Given the description of an element on the screen output the (x, y) to click on. 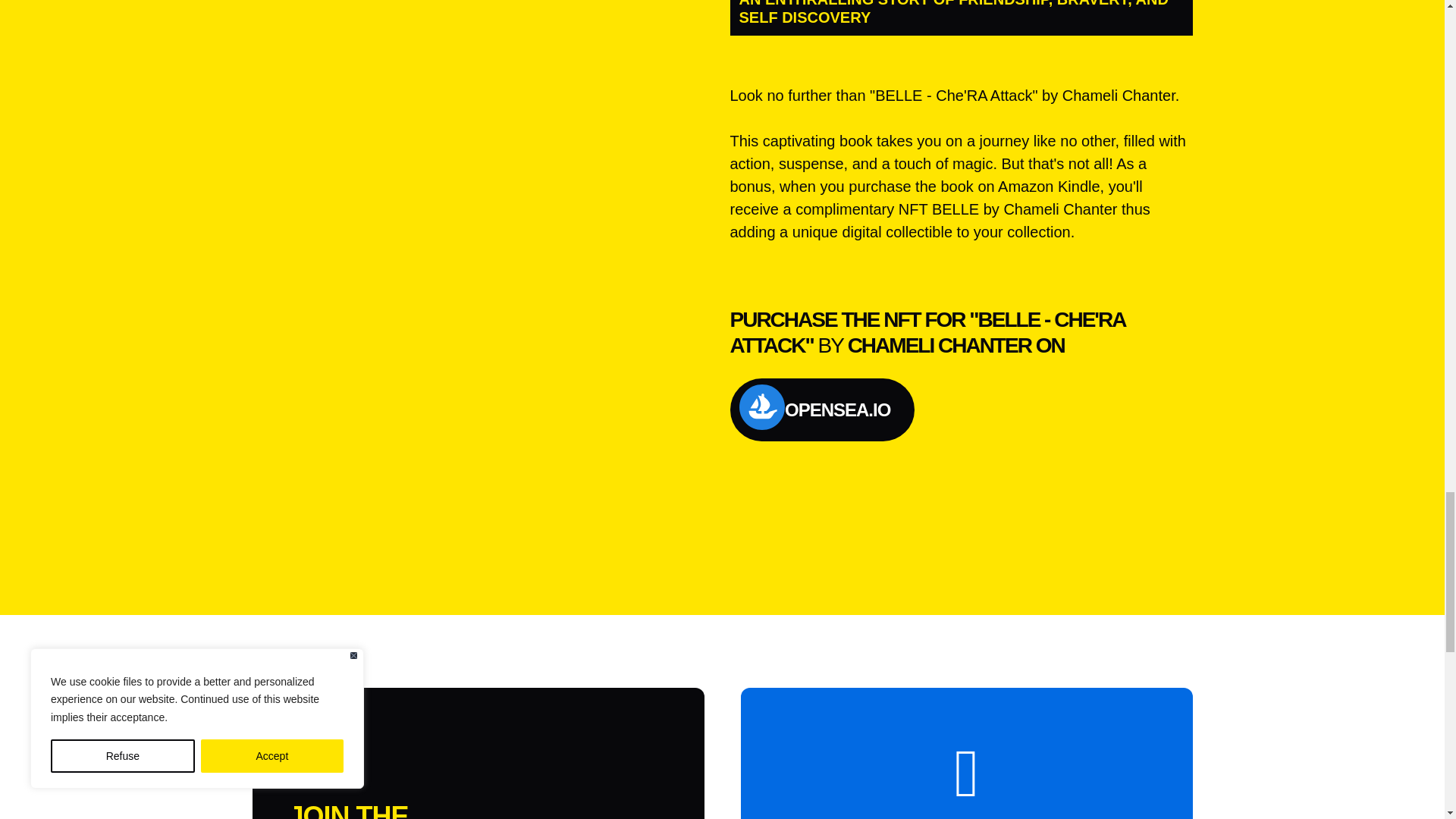
OPENSEA.IO (821, 409)
